Given the description of an element on the screen output the (x, y) to click on. 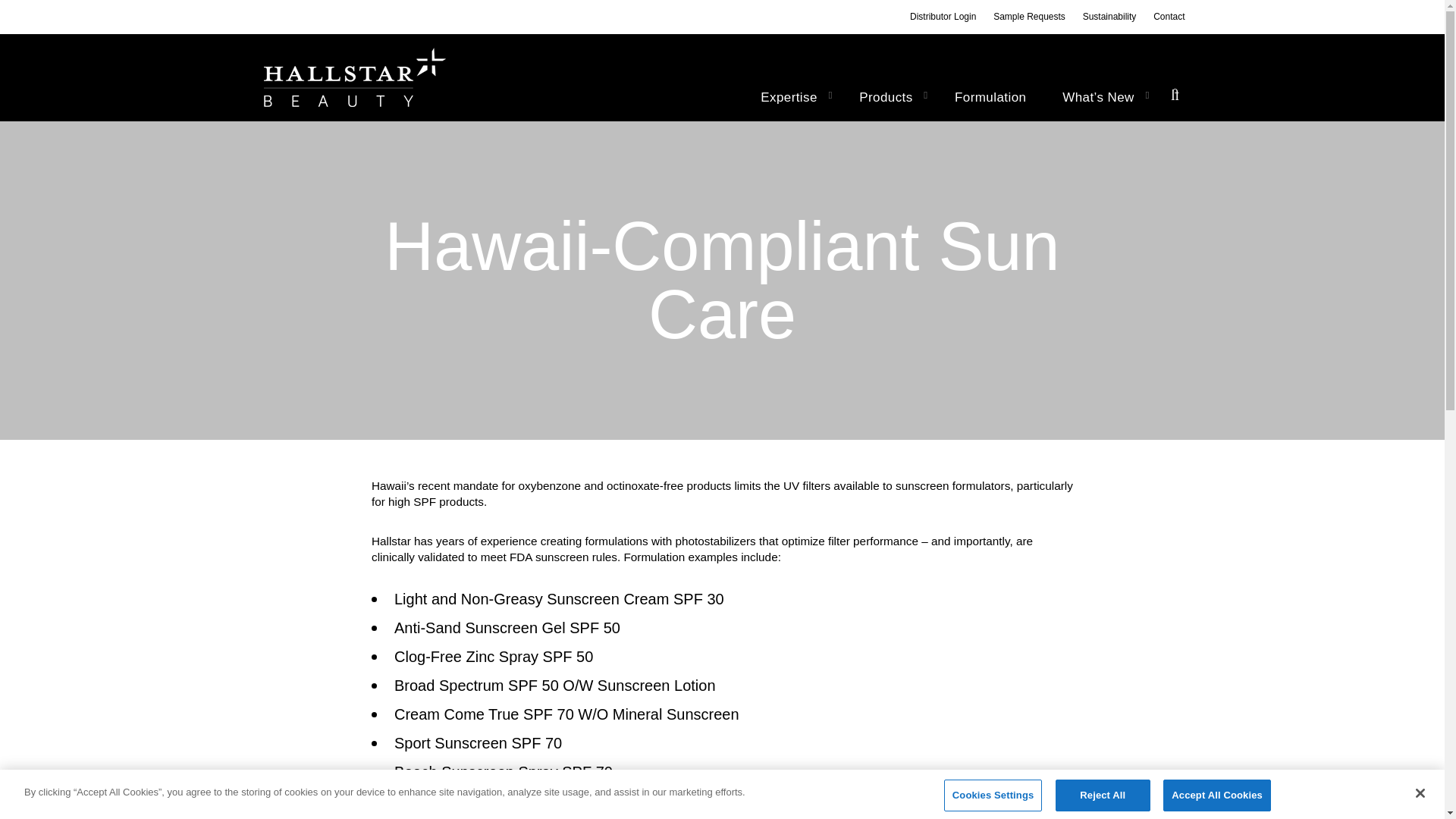
Sustainability (1110, 16)
Distributor Login (942, 16)
Contact (1169, 16)
Products (889, 97)
Sample Requests (1028, 16)
Expertise (792, 97)
Formulation (989, 97)
